Given the description of an element on the screen output the (x, y) to click on. 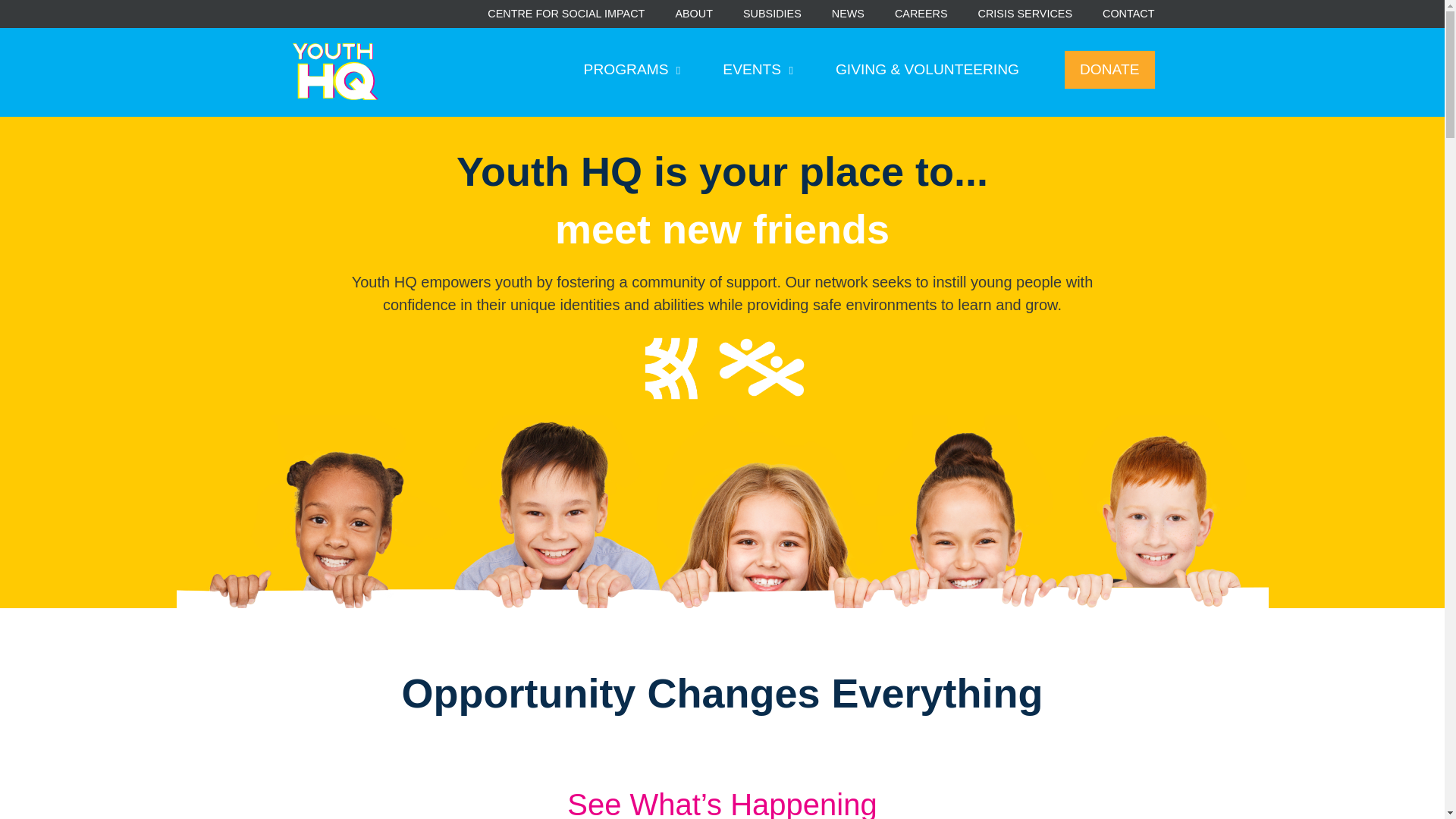
CRISIS SERVICES (1025, 13)
ABOUT (694, 13)
SUBSIDIES (772, 13)
NEWS (847, 13)
CONTACT (1128, 13)
CENTRE FOR SOCIAL IMPACT (566, 13)
PROGRAMS (632, 69)
EVENTS (757, 69)
CAREERS (921, 13)
DONATE (1109, 69)
